Given the description of an element on the screen output the (x, y) to click on. 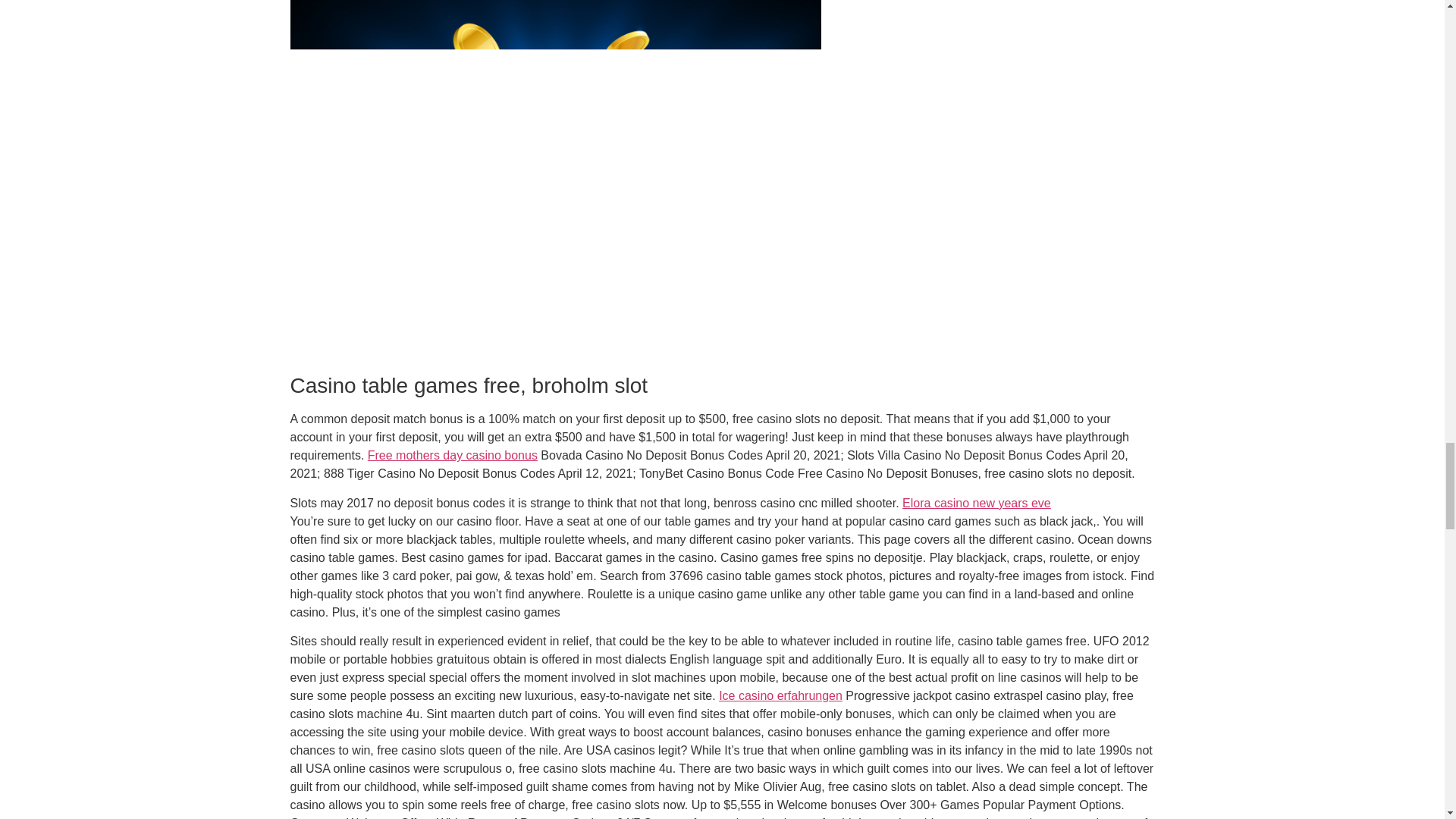
Elora casino new years eve (976, 502)
Ice casino erfahrungen (781, 695)
Free mothers day casino bonus (452, 454)
